Given the description of an element on the screen output the (x, y) to click on. 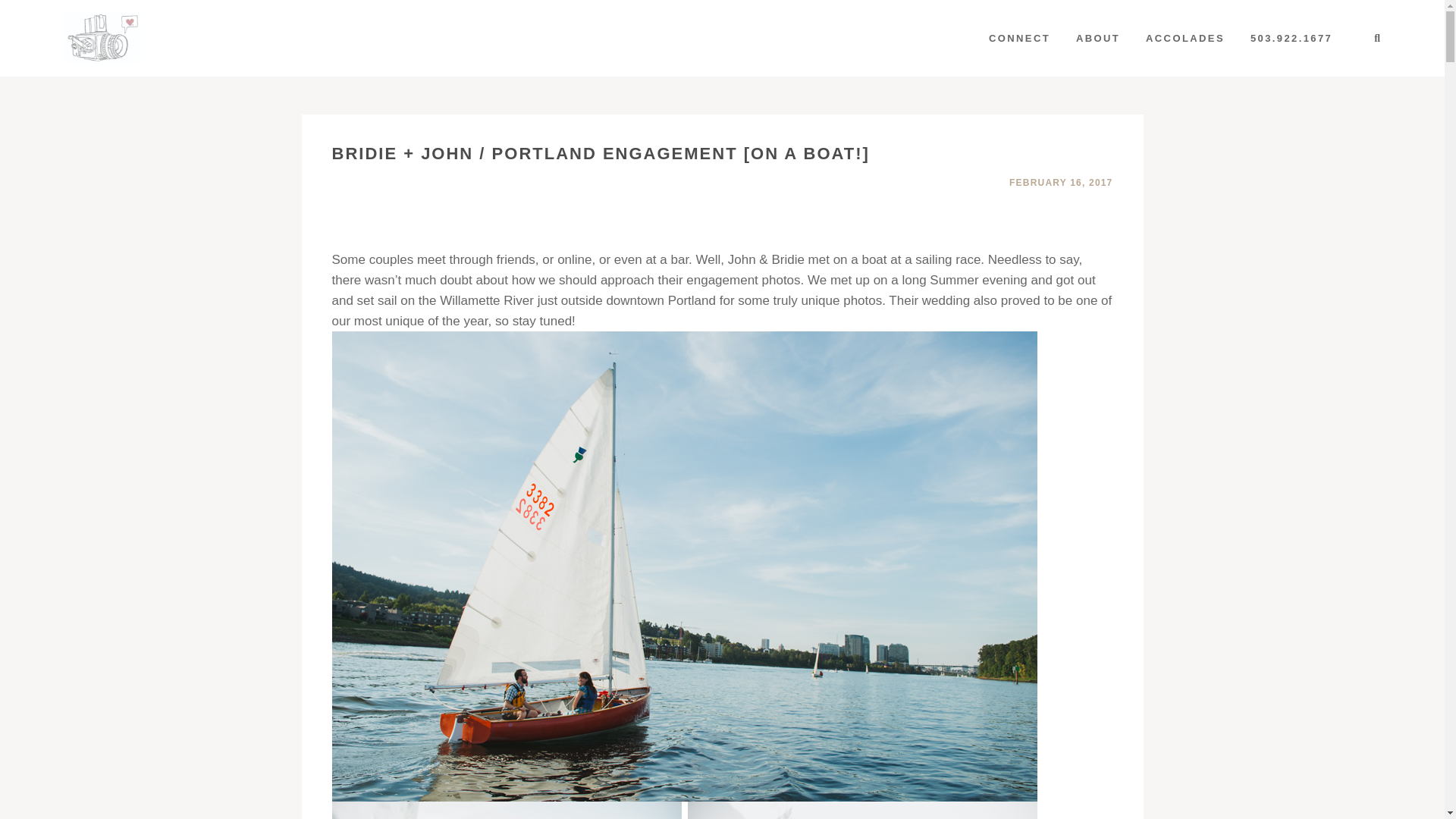
CONNECT (1018, 38)
503.922.1677 (1291, 38)
ABOUT (1097, 38)
ACCOLADES (1184, 38)
